Given the description of an element on the screen output the (x, y) to click on. 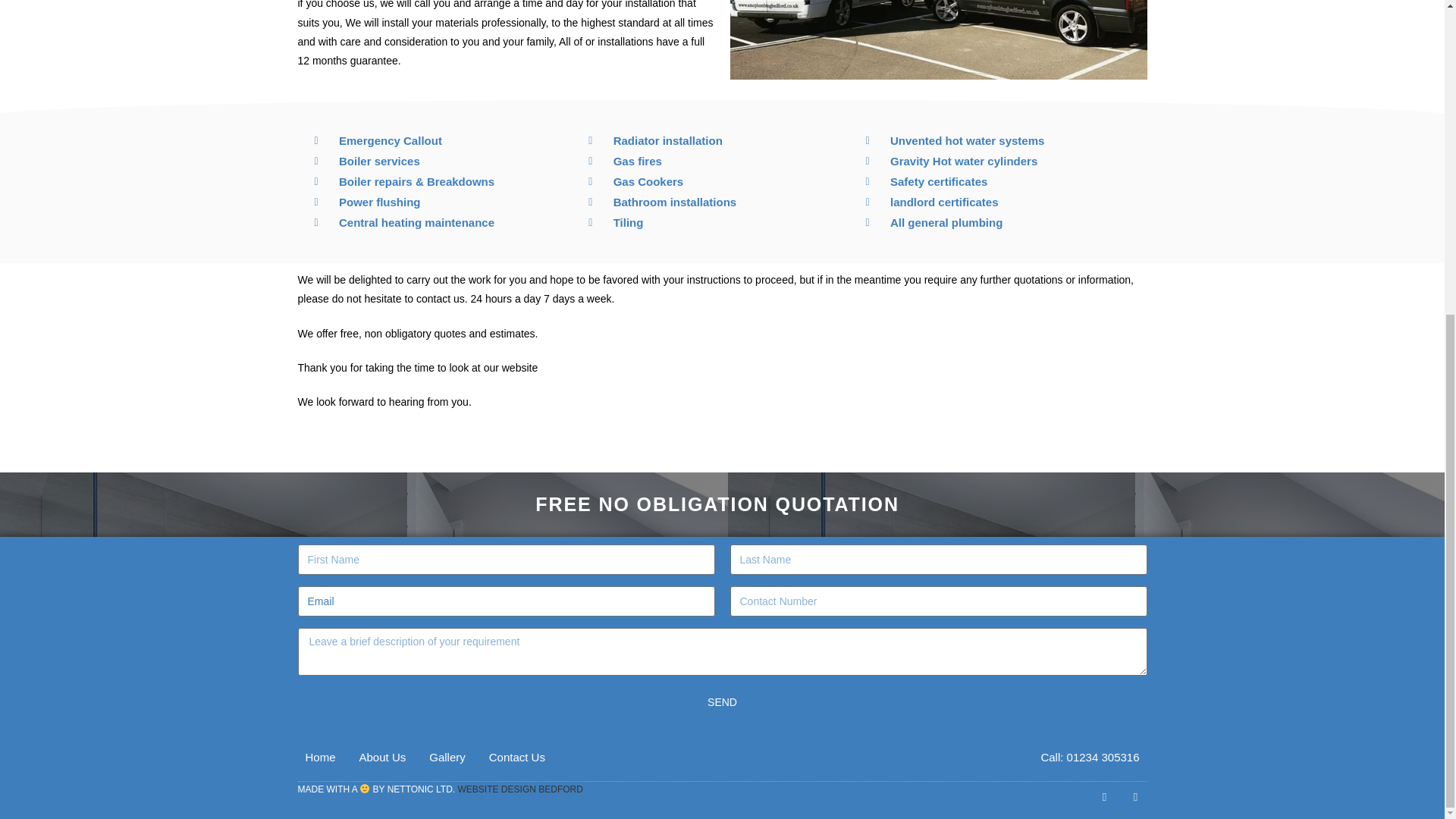
Home (319, 757)
About Us (382, 757)
Contact Us (516, 757)
SEND (722, 702)
Gallery (447, 757)
WEBSITE DESIGN BEDFORD (520, 788)
Email (505, 601)
